Given the description of an element on the screen output the (x, y) to click on. 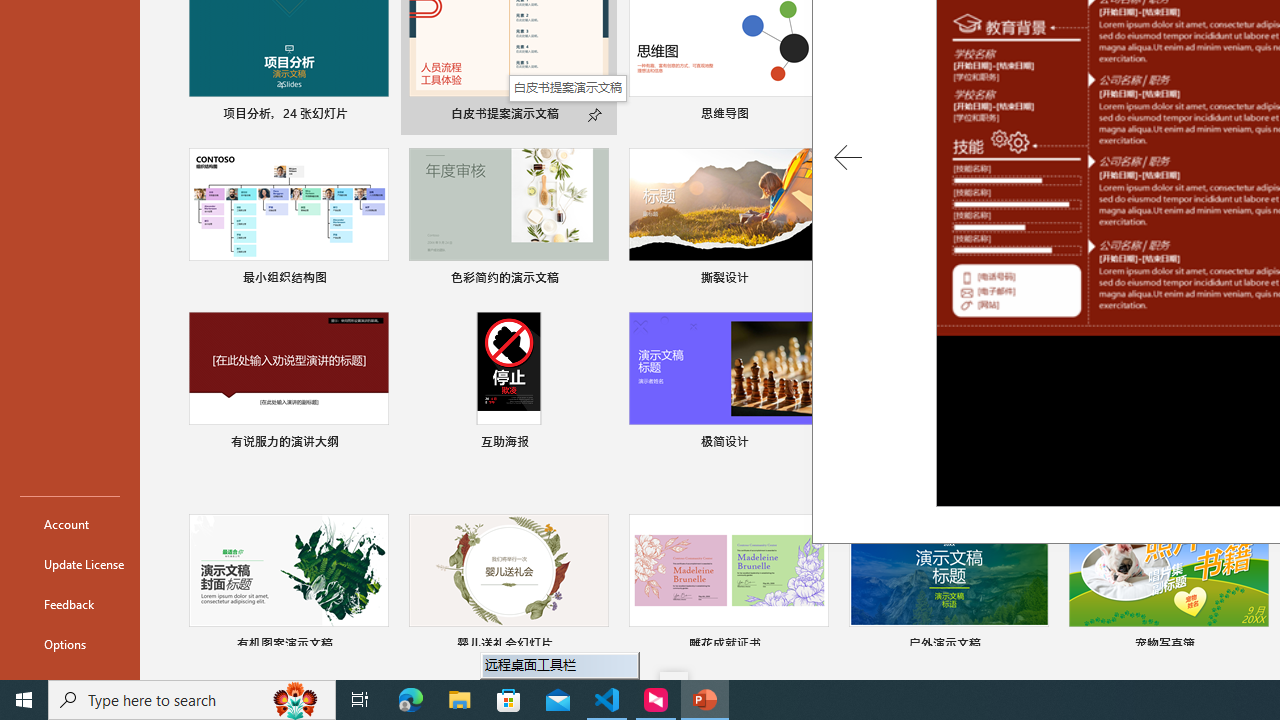
Update License (69, 563)
